Given the description of an element on the screen output the (x, y) to click on. 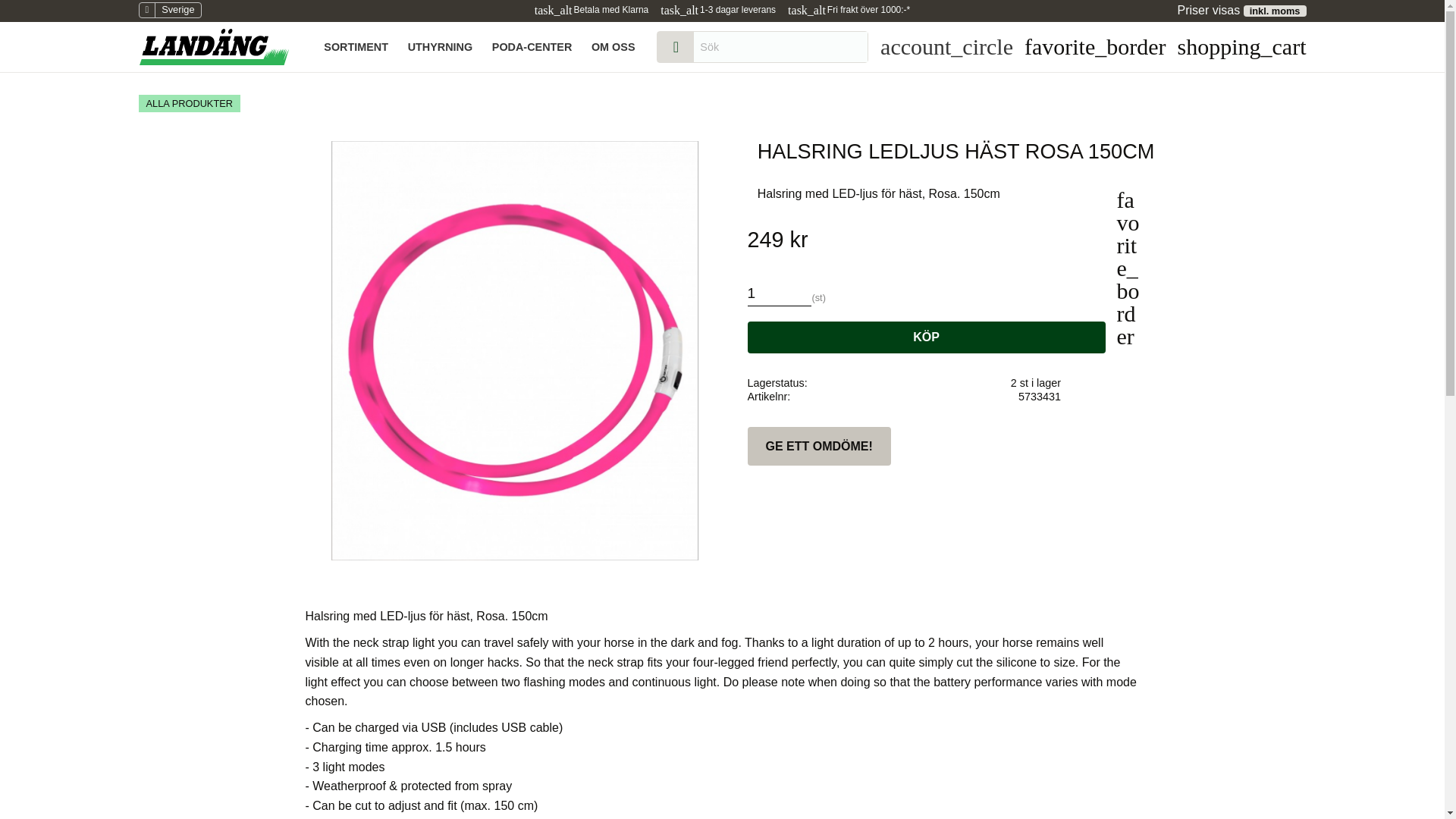
SORTIMENT (355, 47)
1 (780, 289)
inkl. moms (1274, 10)
Sverige (169, 10)
Sortiment (355, 47)
